Given the description of an element on the screen output the (x, y) to click on. 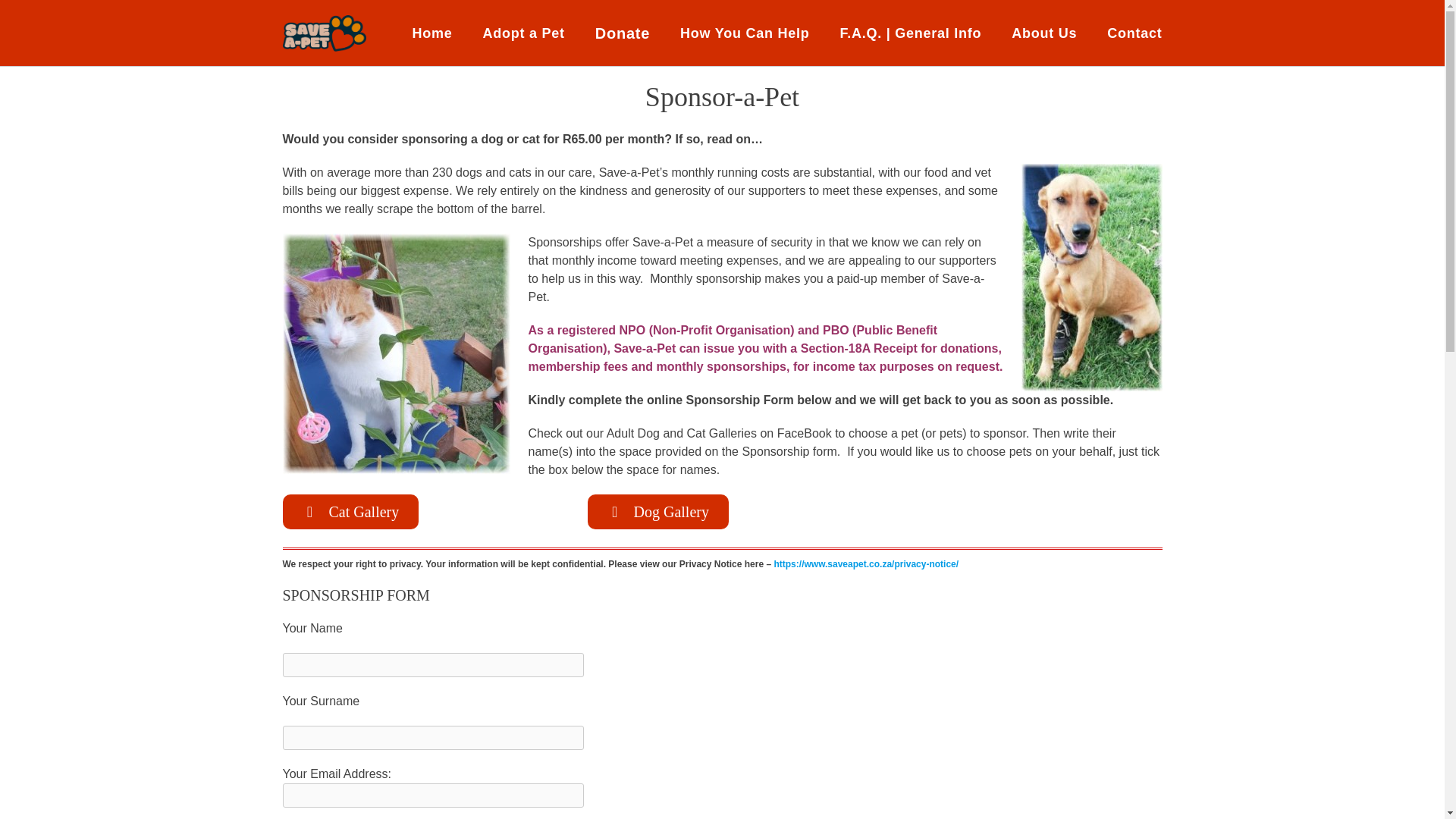
Adopt a Pet (523, 33)
Donate (622, 33)
How You Can Help (744, 33)
Home (432, 33)
Dog Gallery (658, 511)
About Us (1043, 33)
Cat Gallery (350, 511)
Contact (1134, 33)
